Given the description of an element on the screen output the (x, y) to click on. 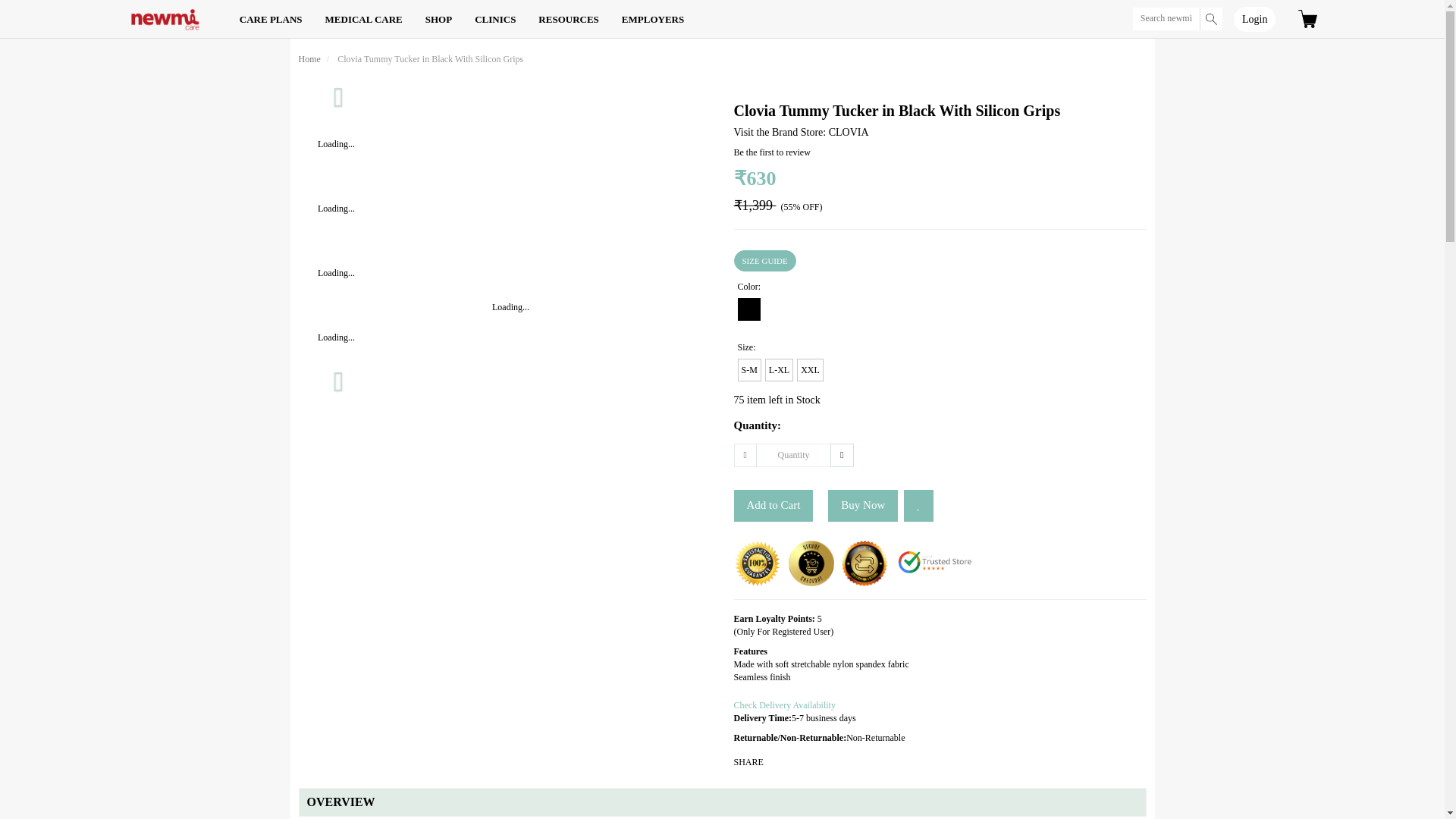
LOGIN (1253, 19)
Next (338, 378)
Loading... (335, 299)
Add to Wishlist (918, 505)
Loading... (510, 508)
CART (1307, 18)
Buy Now (863, 505)
SEARCH (1177, 18)
XXL (810, 369)
Previous (338, 94)
